Given the description of an element on the screen output the (x, y) to click on. 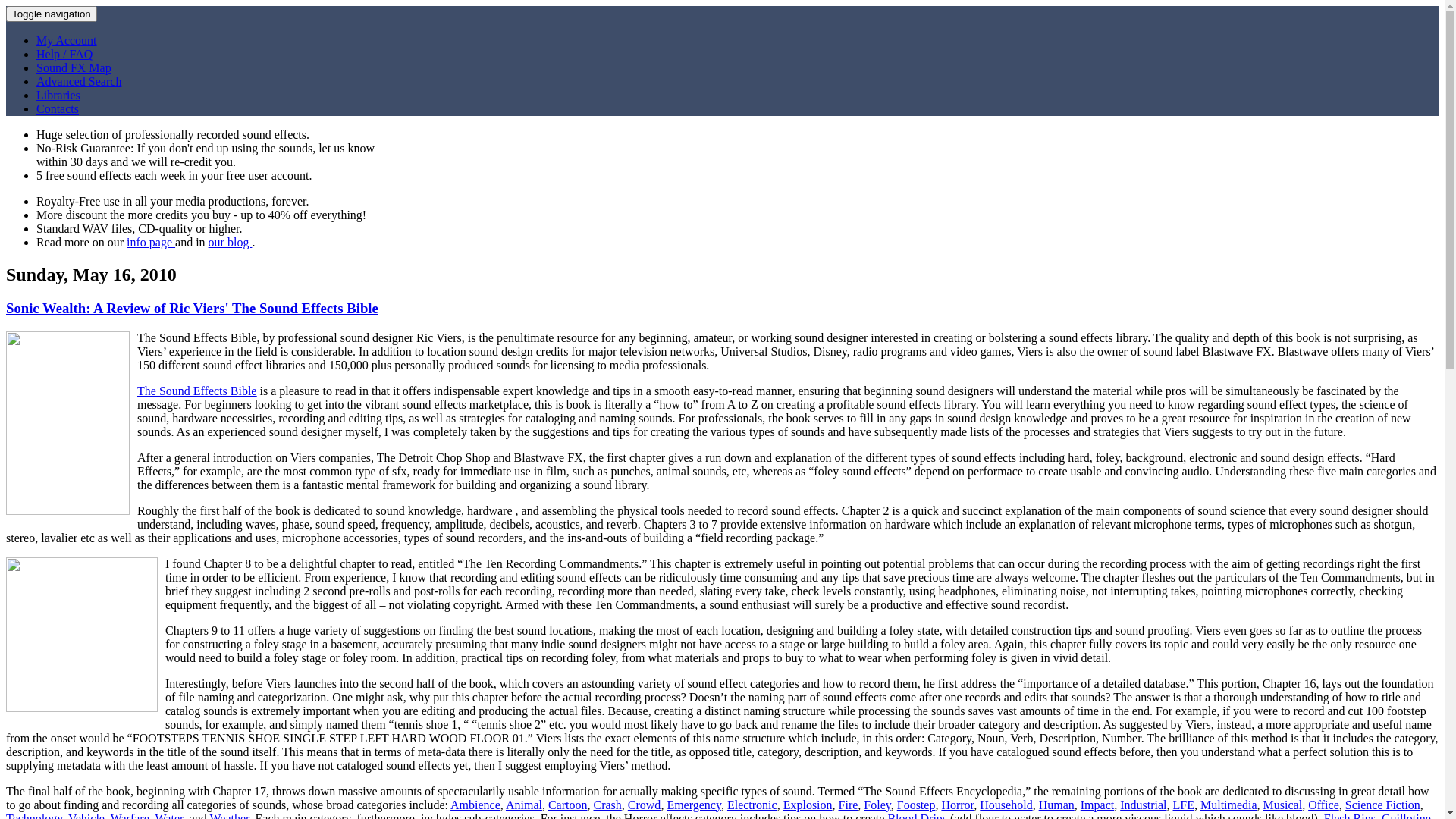
Electronic Element type: text (752, 804)
Advanced Search Element type: text (78, 81)
Crowd Element type: text (644, 804)
Impact Element type: text (1096, 804)
info page Element type: text (150, 241)
My Account Element type: text (66, 40)
Animal Element type: text (523, 804)
Help / FAQ Element type: text (64, 53)
Explosion Element type: text (807, 804)
Crash Element type: text (607, 804)
Contacts Element type: text (57, 108)
Ambience Element type: text (475, 804)
Sound FX Map Element type: text (73, 67)
Sonic Wealth: A Review of Ric Viers' The Sound Effects Bible Element type: text (192, 308)
Multimedia Element type: text (1228, 804)
Fire Element type: text (848, 804)
Industrial Element type: text (1143, 804)
Human Element type: text (1056, 804)
Emergency Element type: text (693, 804)
Libraries Element type: text (58, 94)
Toggle navigation Element type: text (51, 13)
The Sound Effects Bible Element type: text (196, 390)
our blog Element type: text (230, 241)
Horror Element type: text (957, 804)
Musical Element type: text (1282, 804)
Household Element type: text (1005, 804)
Science Fiction Element type: text (1382, 804)
Office Element type: text (1323, 804)
LFE Element type: text (1182, 804)
Cartoon Element type: text (567, 804)
Foley Element type: text (876, 804)
Foostep Element type: text (916, 804)
